Given the description of an element on the screen output the (x, y) to click on. 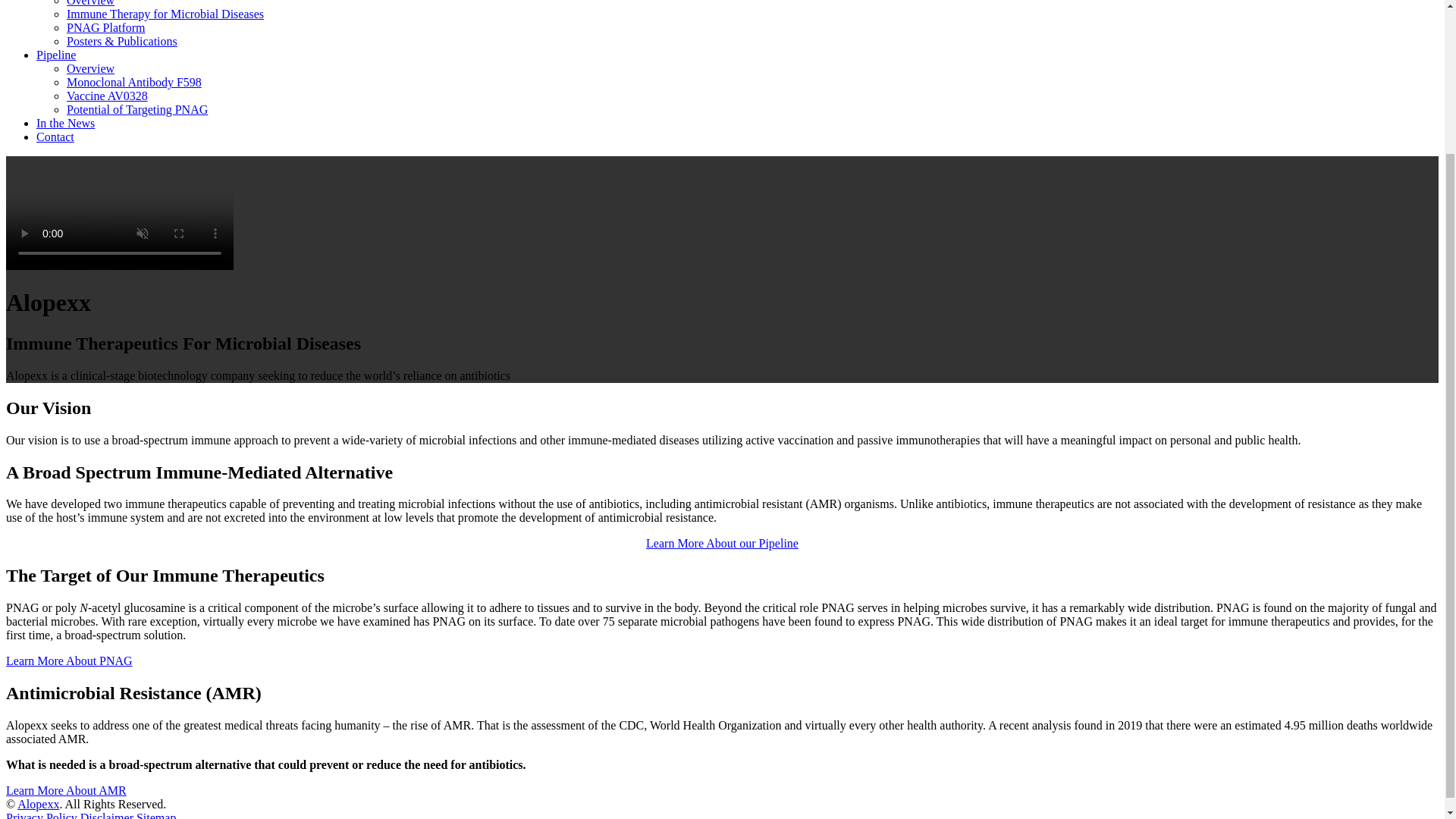
Overview (90, 3)
Alopexx (38, 803)
Vaccine AV0328 (107, 95)
Learn More About our Pipeline (721, 543)
In the News (65, 123)
Pipeline (55, 54)
Learn More About PNAG (68, 660)
Immune Therapy for Microbial Diseases (164, 13)
Contact (55, 136)
Potential of Targeting PNAG (137, 109)
Monoclonal Antibody F598 (134, 82)
PNAG Platform (105, 27)
Learn More About AMR (65, 789)
Overview (90, 68)
